Given the description of an element on the screen output the (x, y) to click on. 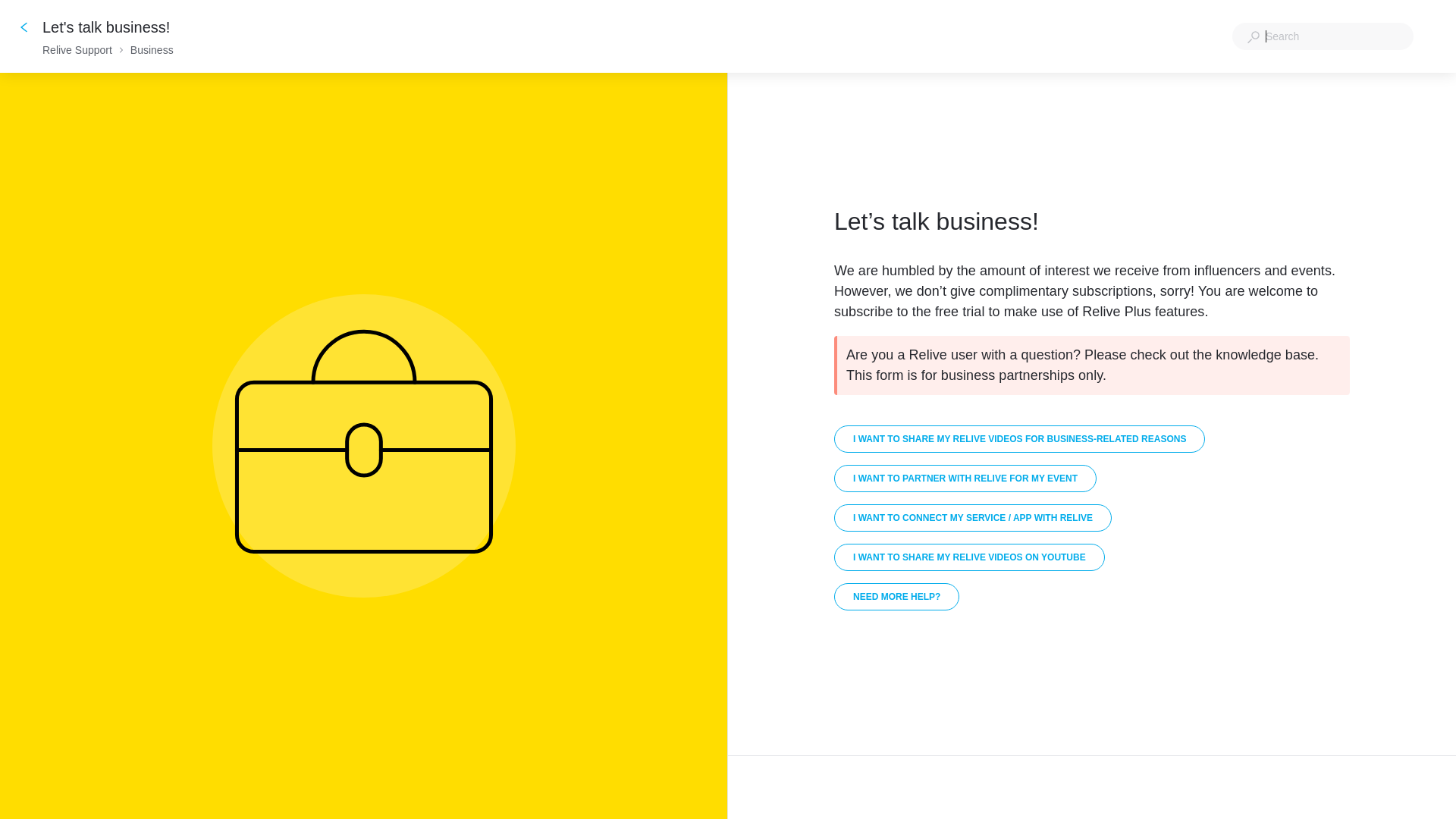
I WANT TO SHARE MY RELIVE VIDEOS ON YOUTUBE Element type: text (969, 556)
NEED MORE HELP? Element type: text (896, 595)
Let's talk business! Element type: text (107, 27)
I WANT TO PARTNER WITH RELIVE FOR MY EVENT Element type: text (965, 477)
Relive Support Element type: text (77, 49)
Business Element type: text (151, 49)
I WANT TO CONNECT MY SERVICE / APP WITH RELIVE Element type: text (972, 516)
